Given the description of an element on the screen output the (x, y) to click on. 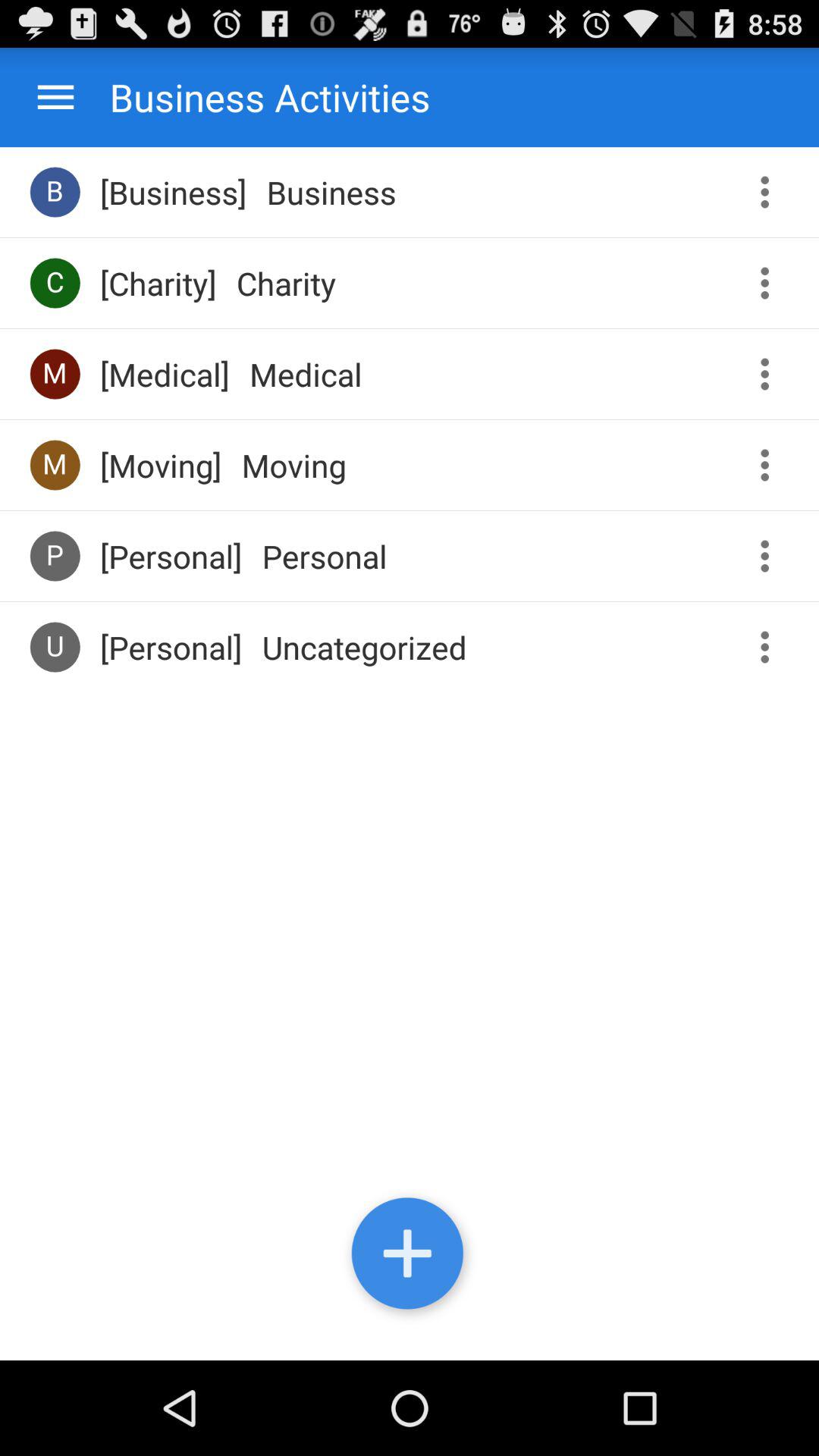
expand options (770, 283)
